Given the description of an element on the screen output the (x, y) to click on. 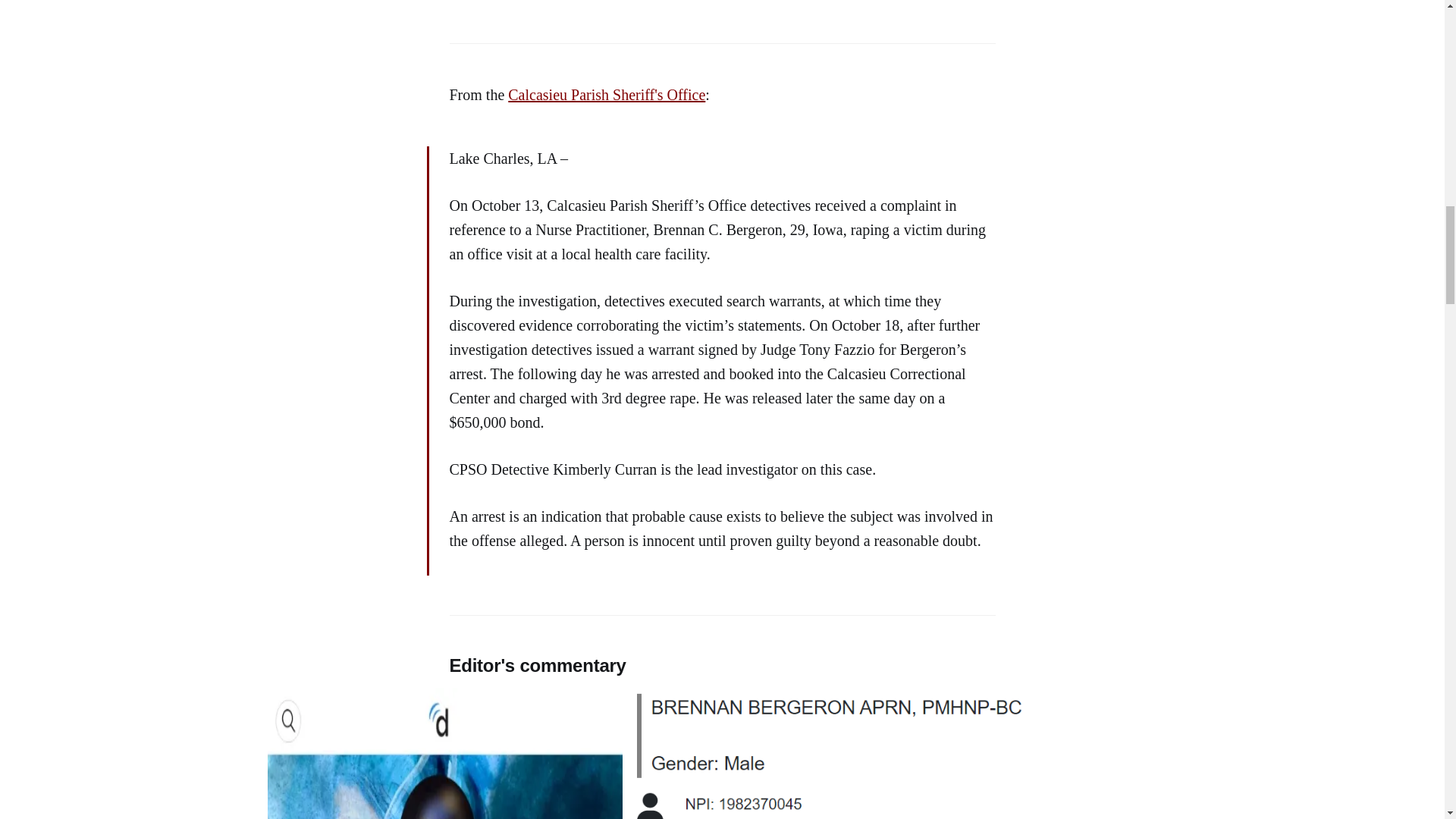
Calcasieu Parish Sheriff's Office (606, 94)
